Given the description of an element on the screen output the (x, y) to click on. 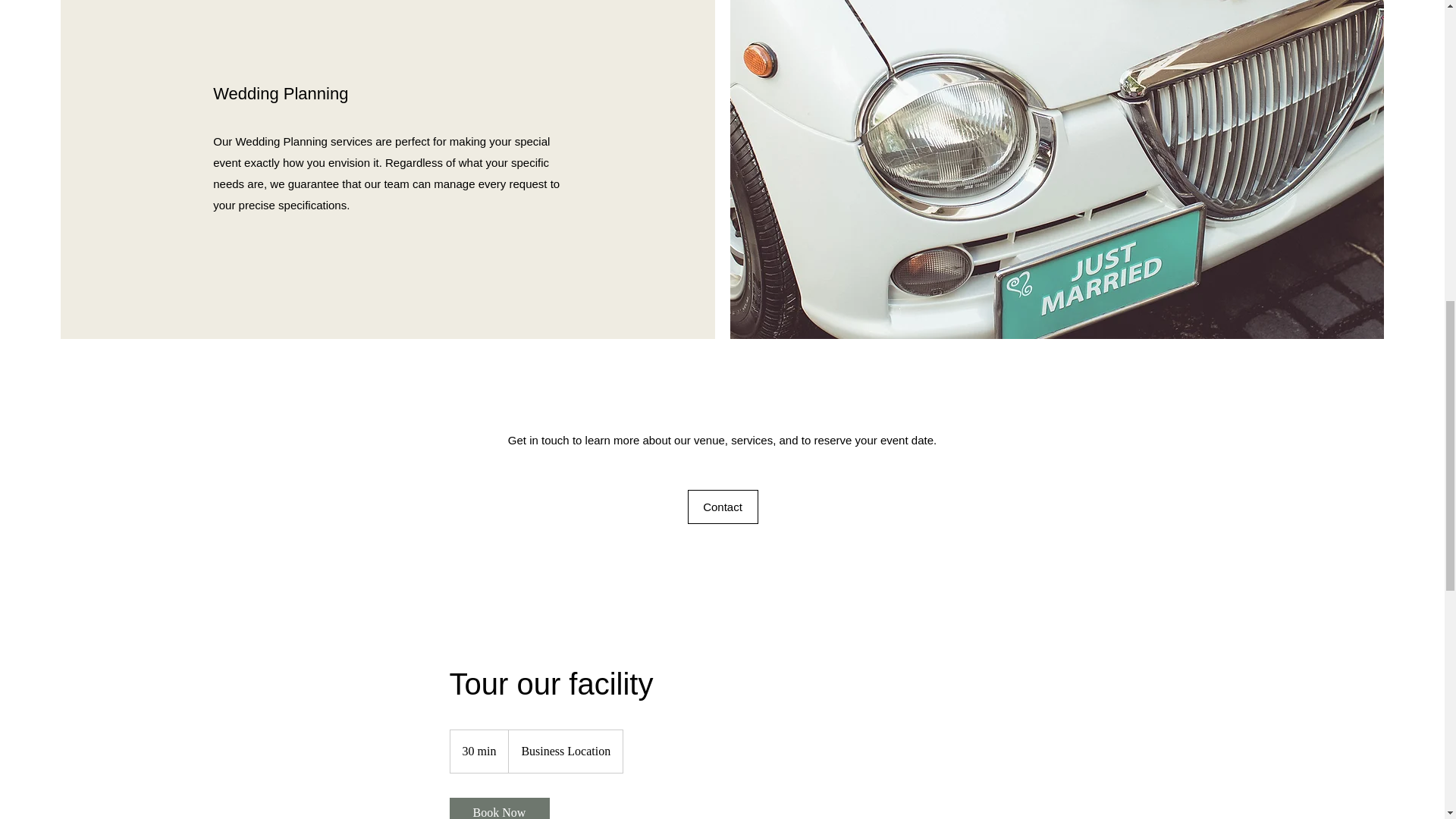
Book Now (498, 808)
